Given the description of an element on the screen output the (x, y) to click on. 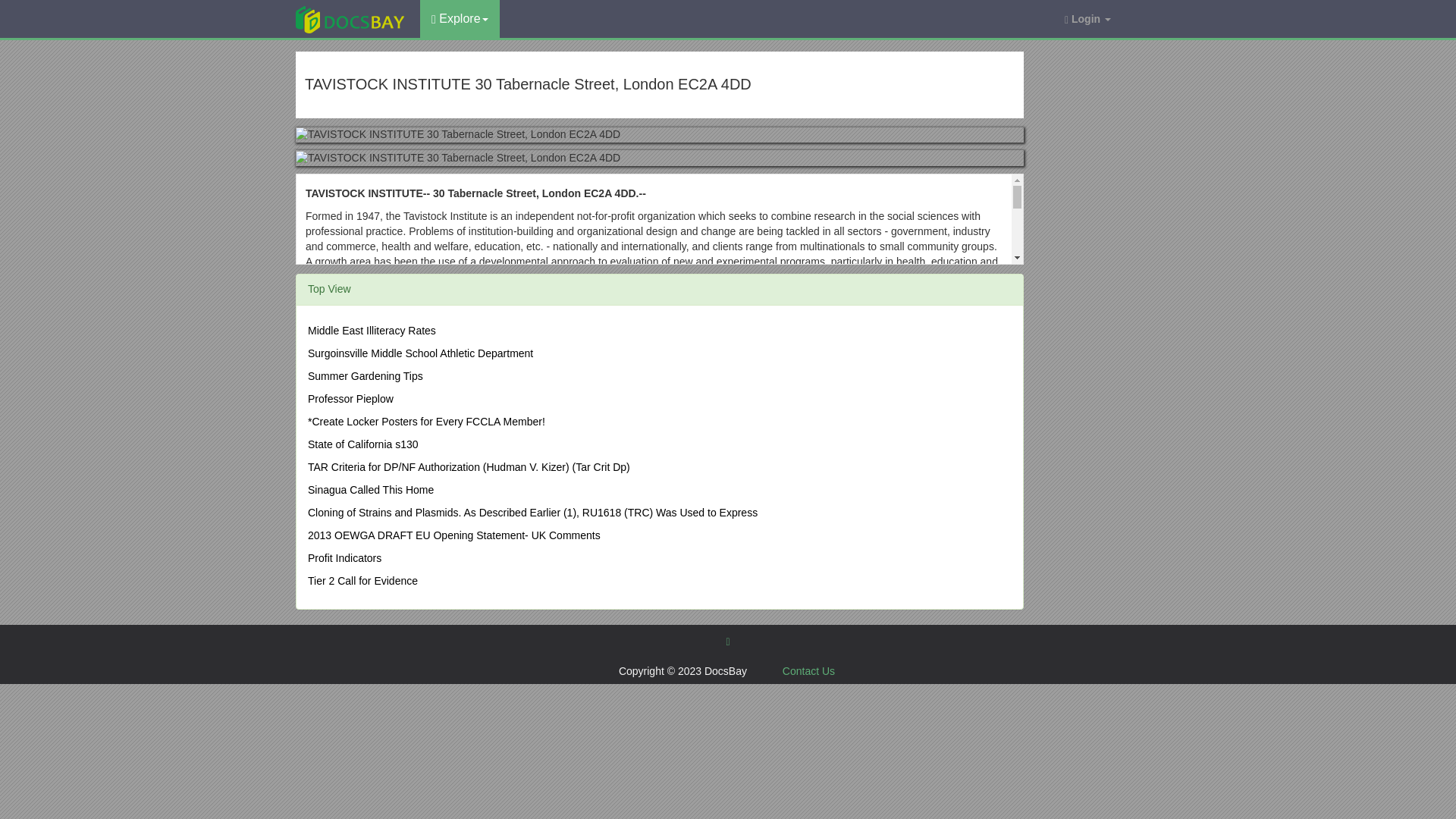
Sinagua Called This Home (370, 490)
Explore (459, 18)
TO TOP (727, 640)
Professor Pieplow (350, 398)
Login (1087, 18)
Profit Indicators (344, 558)
Middle East Illiteracy Rates (371, 330)
Tier 2 Call for Evidence (362, 580)
Surgoinsville Middle School Athletic Department (419, 353)
2013 OEWGA DRAFT EU Opening Statement- UK Comments (453, 535)
State of California s130 (363, 444)
Summer Gardening Tips (365, 376)
Contact Us (808, 671)
